Given the description of an element on the screen output the (x, y) to click on. 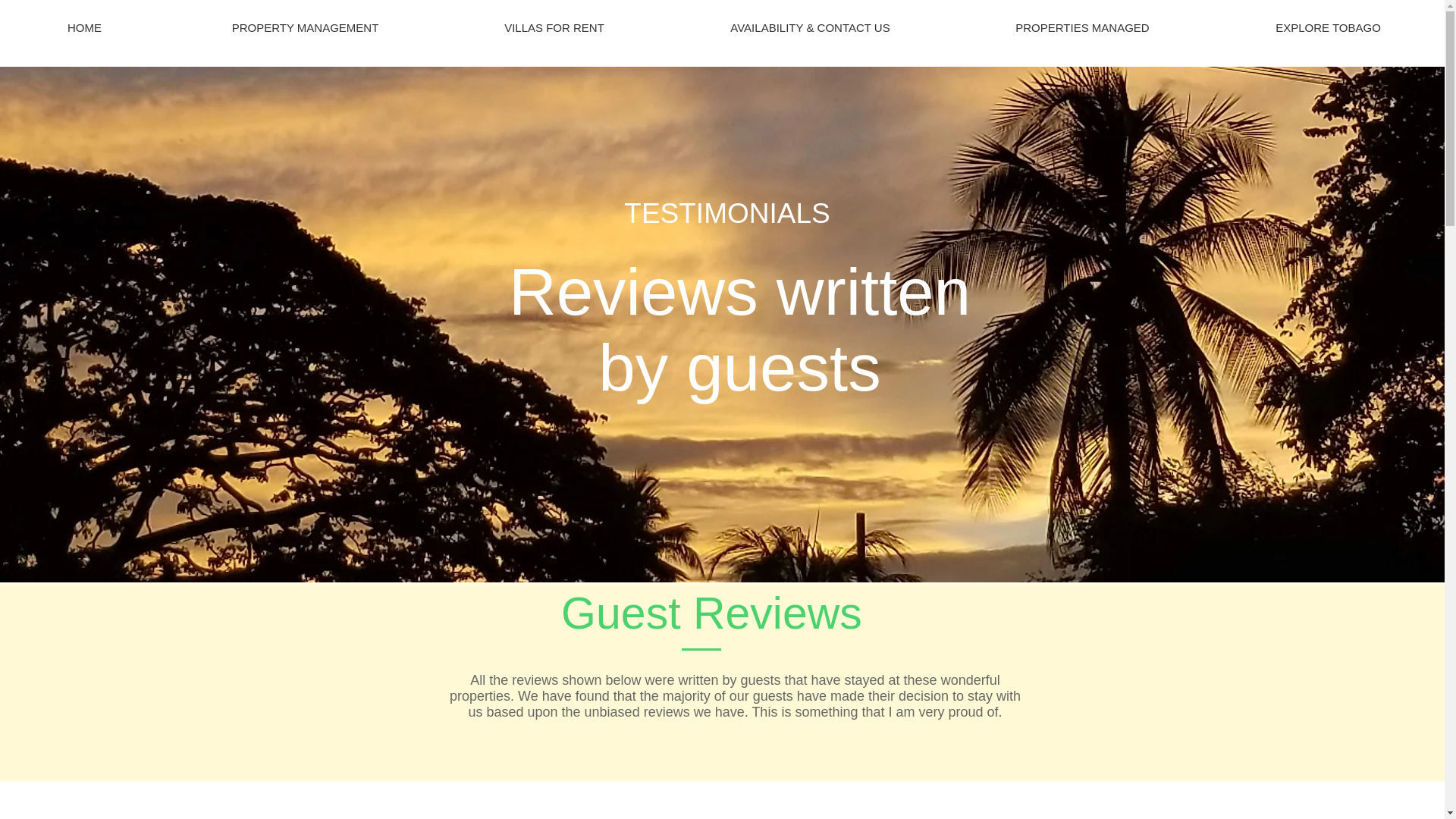
HOME (84, 27)
PROPERTY MANAGEMENT (304, 27)
PROPERTIES MANAGED (1082, 27)
VILLAS FOR RENT (553, 27)
